Given the description of an element on the screen output the (x, y) to click on. 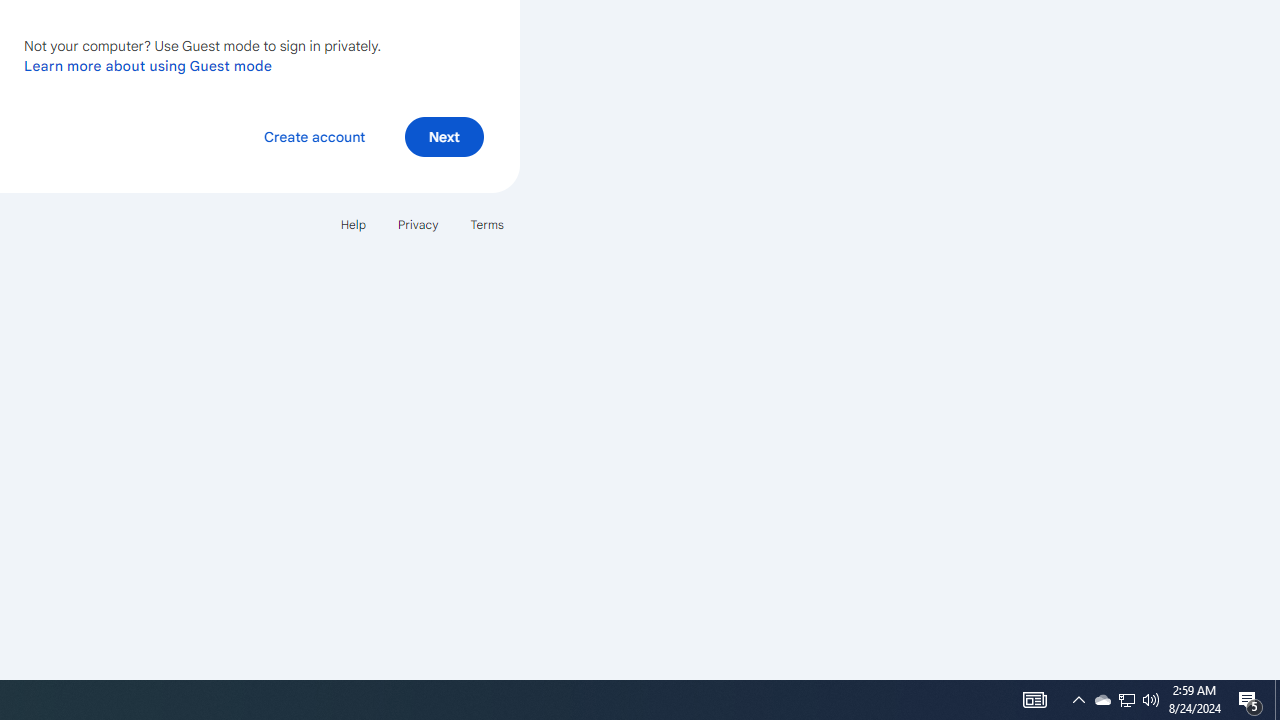
Privacy (417, 224)
Next (443, 135)
Help (352, 224)
Learn more about using Guest mode (148, 65)
Terms (486, 224)
Create account (314, 135)
